Given the description of an element on the screen output the (x, y) to click on. 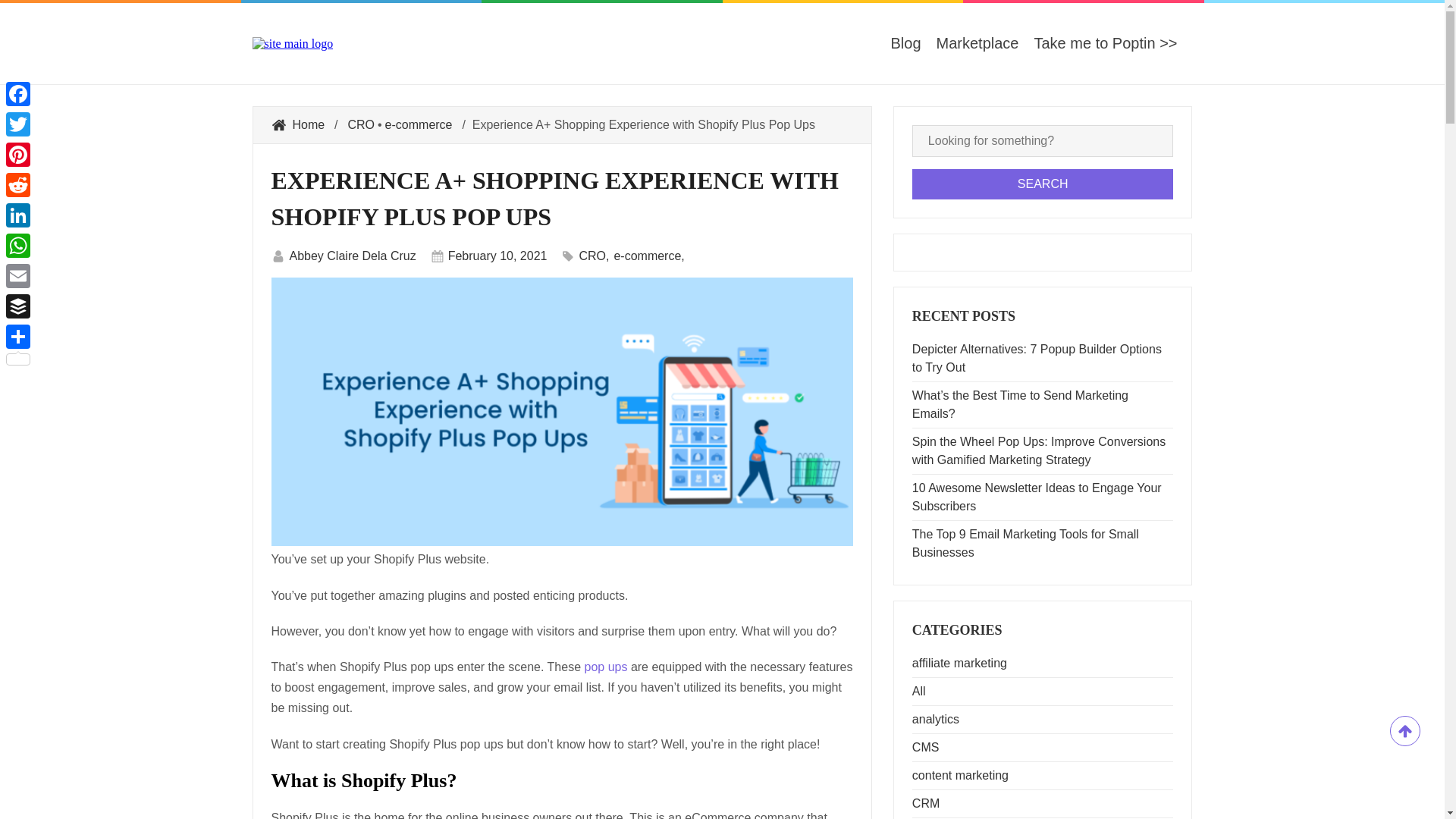
WhatsApp (17, 245)
Depicter Alternatives: 7 Popup Builder Options to Try Out (1042, 358)
Marketplace (977, 43)
LinkedIn (17, 214)
Abbey Claire Dela Cruz (352, 256)
SEARCH (1042, 183)
Buffer (17, 306)
affiliate marketing (959, 663)
analytics (935, 719)
